Given the description of an element on the screen output the (x, y) to click on. 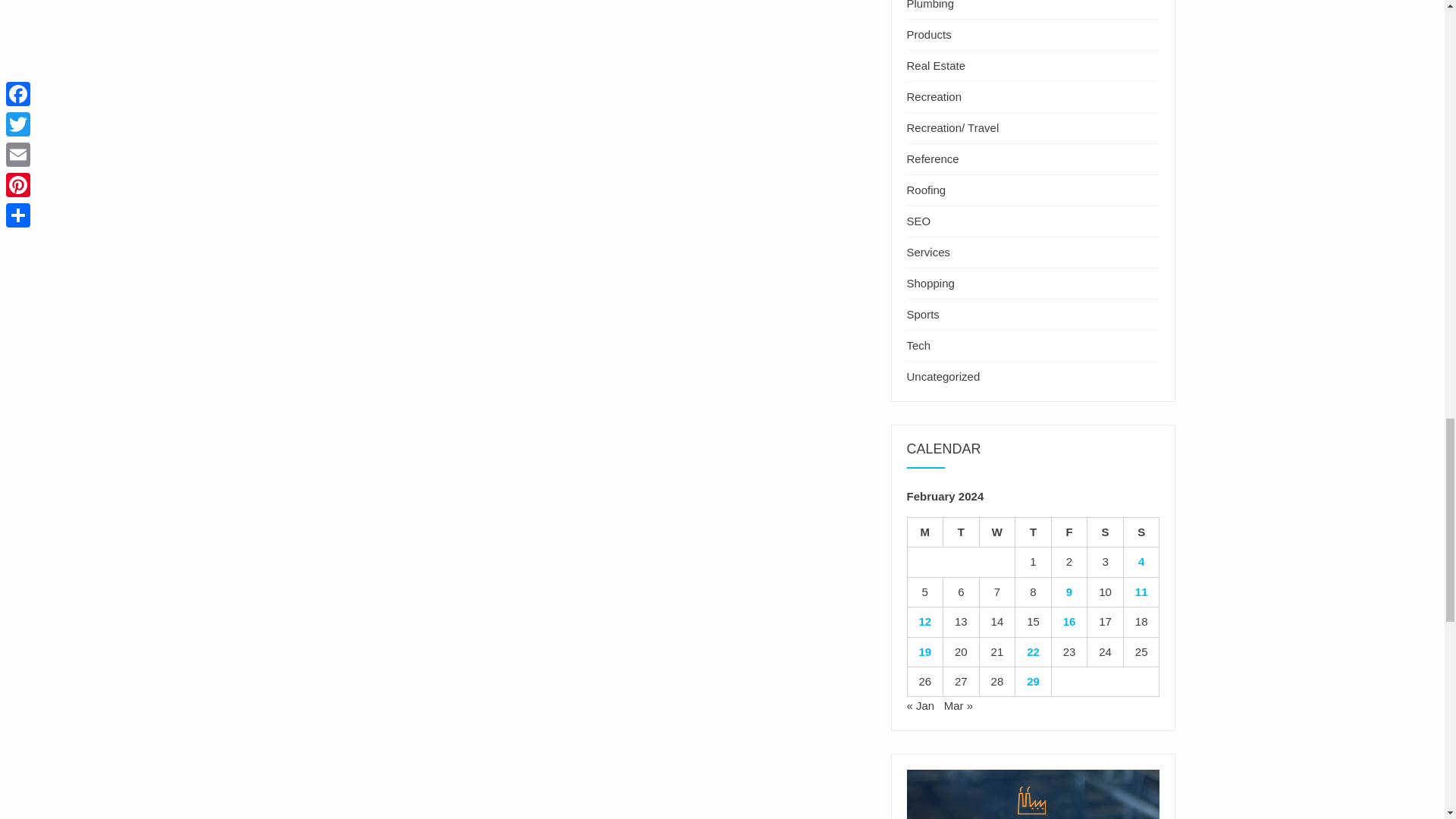
Sunday (1142, 532)
Wednesday (997, 532)
Monday (925, 532)
Saturday (1105, 532)
Thursday (1032, 532)
Tuesday (961, 532)
Friday (1069, 532)
